Given the description of an element on the screen output the (x, y) to click on. 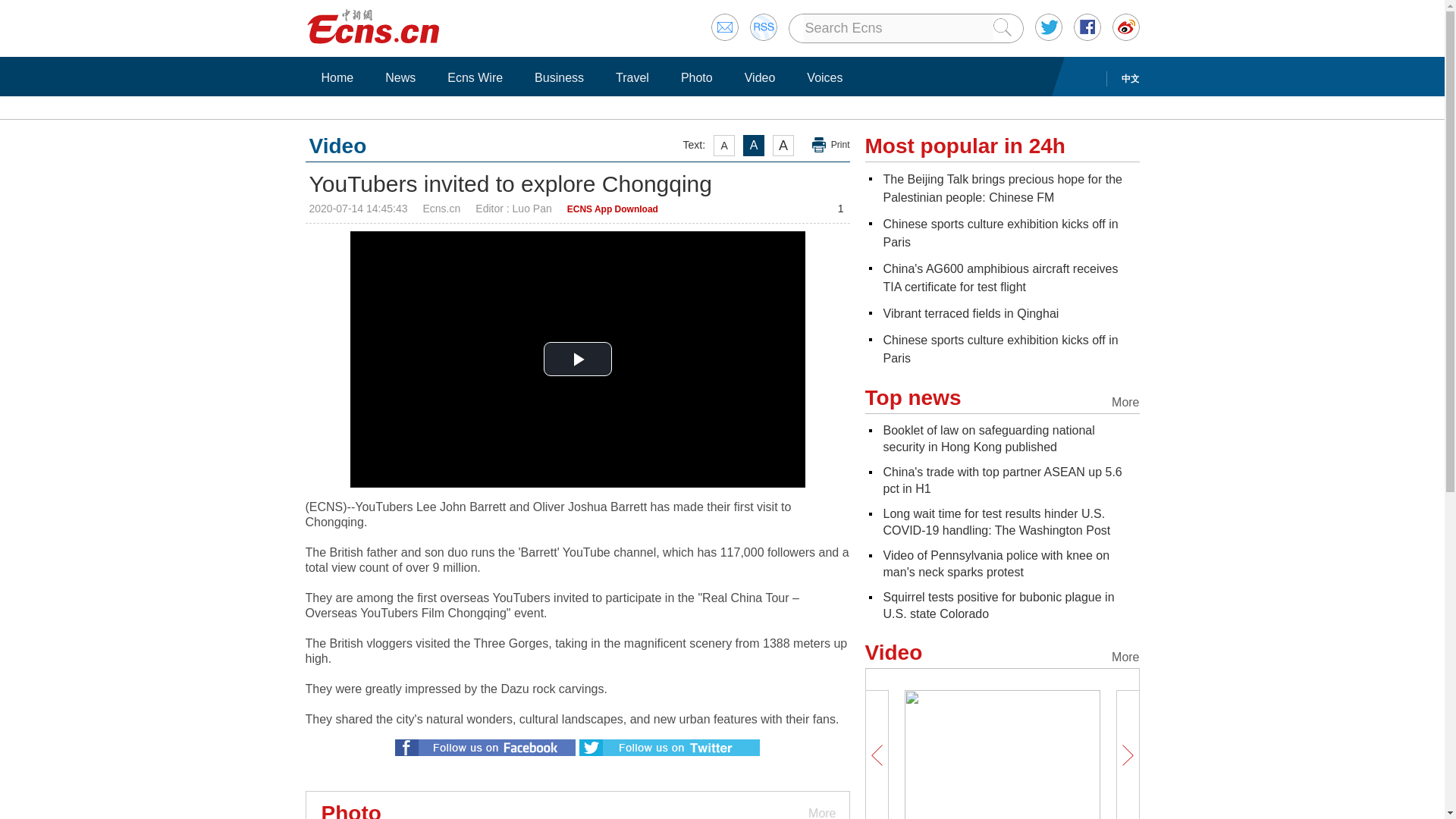
Play Video (577, 358)
ECNS App Download (612, 208)
Business (558, 77)
Ecns Wire (475, 77)
More (820, 805)
Video (760, 77)
Voices (823, 77)
Play Video (577, 358)
Travel (632, 77)
News (400, 77)
Search Ecns (897, 27)
Chinese (1000, 232)
Photo (696, 77)
Home (337, 77)
Vibrant (970, 313)
